Given the description of an element on the screen output the (x, y) to click on. 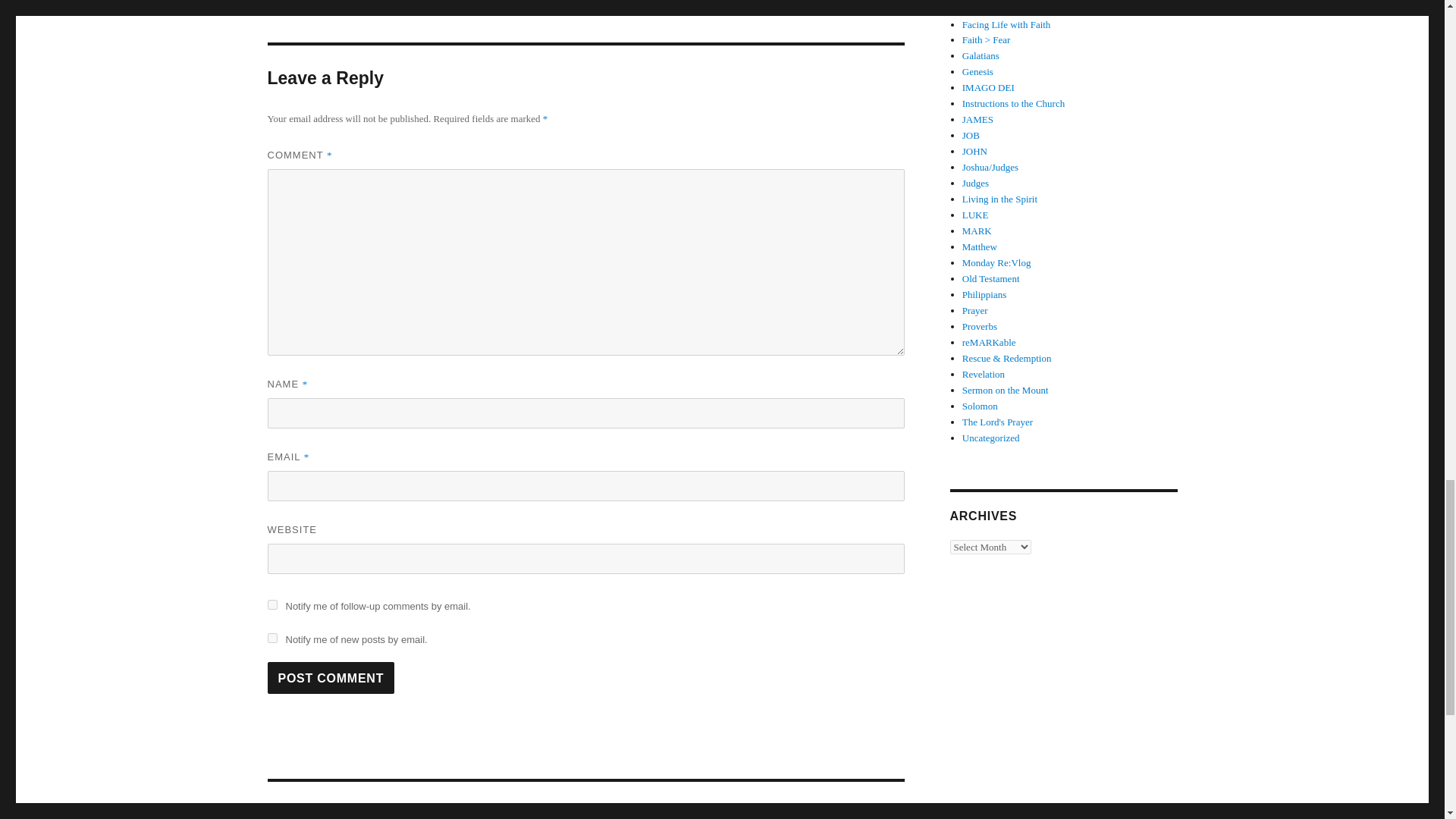
subscribe (585, 800)
Post Comment (271, 604)
Post Comment (330, 677)
subscribe (330, 677)
